Given the description of an element on the screen output the (x, y) to click on. 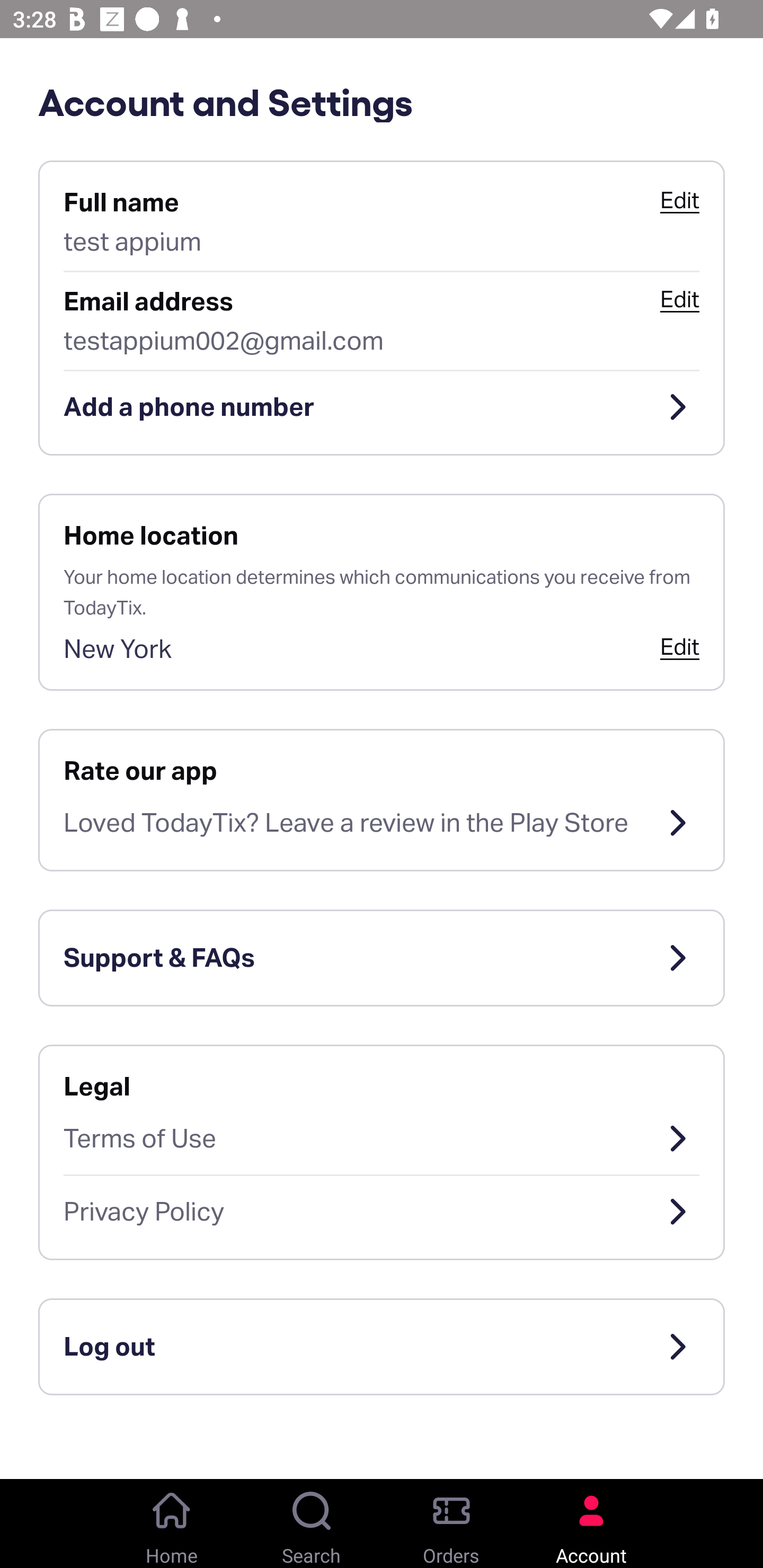
Edit (679, 200)
Edit (679, 299)
Add a phone number (381, 406)
Edit (679, 646)
Loved TodayTix? Leave a review in the Play Store (381, 822)
Support & FAQs (381, 957)
Terms of Use (381, 1137)
Privacy Policy (381, 1211)
Log out (381, 1346)
Home (171, 1523)
Search (311, 1523)
Orders (451, 1523)
